Given the description of an element on the screen output the (x, y) to click on. 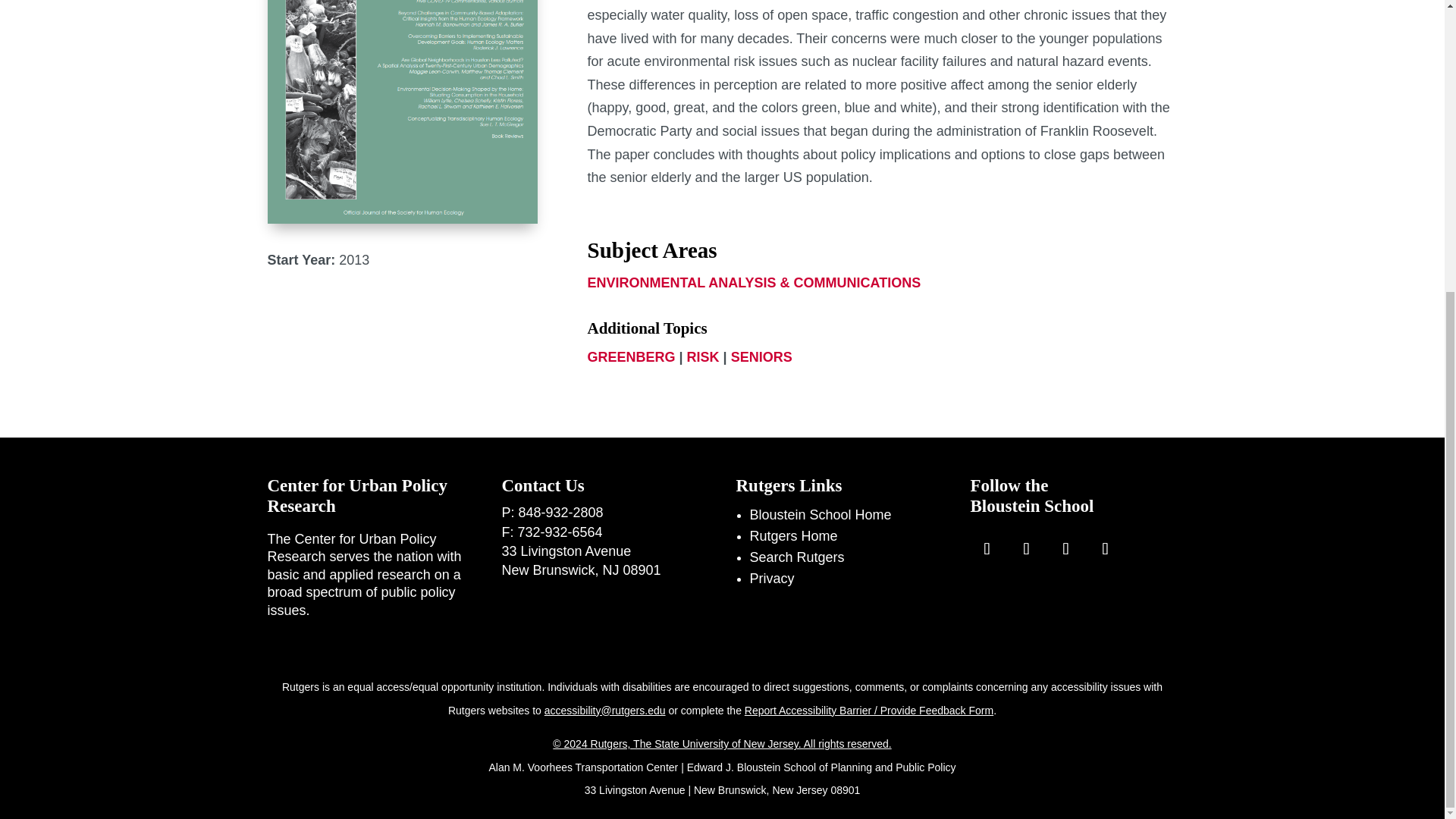
The Senior Elderly, Environmental Risks, and Generation Gaps (401, 111)
Follow on Instagram (1026, 548)
Follow on Facebook (987, 548)
Follow on LinkedIn (1105, 548)
Follow on Twitter (1066, 548)
